Given the description of an element on the screen output the (x, y) to click on. 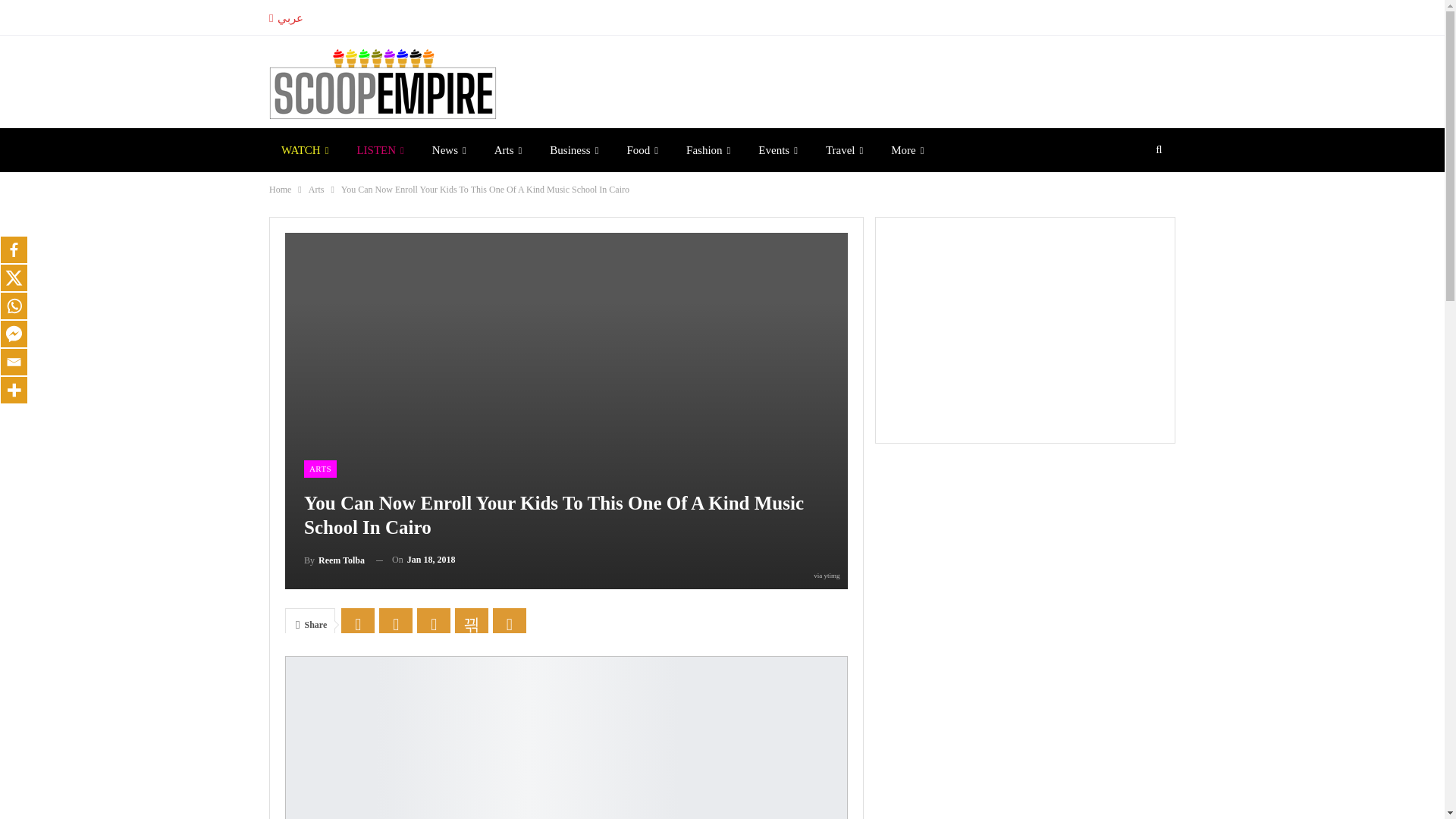
WATCH (304, 149)
News (449, 149)
Business (573, 149)
LISTEN (378, 149)
Arts (507, 149)
